Given the description of an element on the screen output the (x, y) to click on. 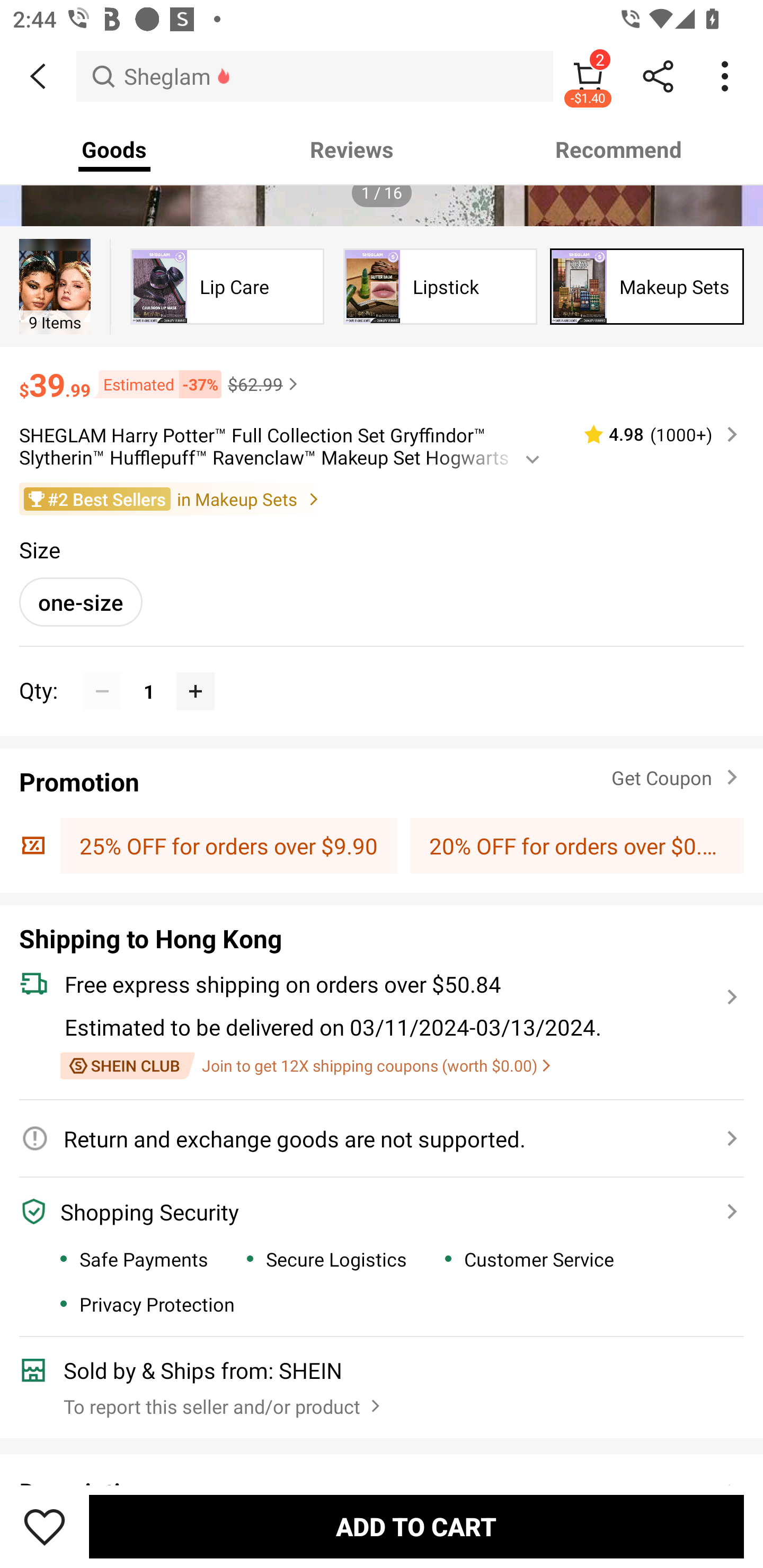
BACK (38, 75)
2 -$1.40 (588, 75)
Sheglam (314, 75)
Goods (114, 149)
Reviews (351, 149)
Recommend (618, 149)
1 / 16 (381, 192)
Lip Care (227, 285)
Lipstick (440, 285)
Makeup Sets (646, 285)
$39.99 Estimated -37% $62.99 (381, 376)
Estimated -37% (155, 384)
$62.99 (265, 384)
4.98 (1000‎+) (653, 433)
#2 Best Sellers in Makeup Sets (381, 498)
Size (39, 549)
one-size one-sizeunselected option (80, 602)
Qty: 1 (381, 671)
Join to get 12X shipping coupons (worth $0.00) (305, 1066)
Return and exchange goods are not supported. (370, 1137)
To report this seller and/or product   (224, 1401)
ADD TO CART (416, 1526)
Save (44, 1526)
